Given the description of an element on the screen output the (x, y) to click on. 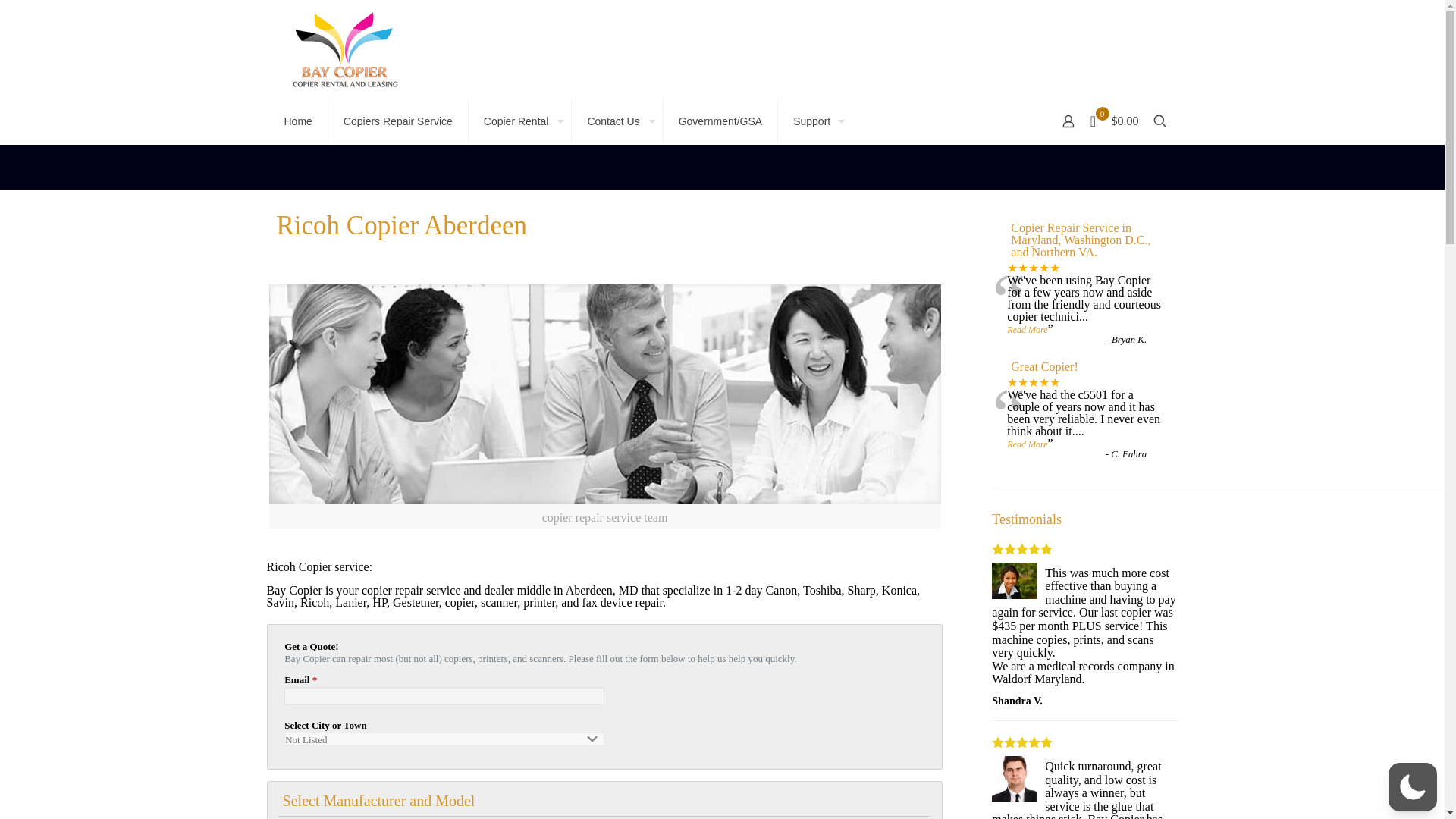
Home (297, 121)
Support (815, 121)
Copiers Repair Service (398, 121)
Contact Us (617, 121)
Bay Copier Rental and Copier Repair Service (344, 49)
Copier Rental (520, 121)
